Given the description of an element on the screen output the (x, y) to click on. 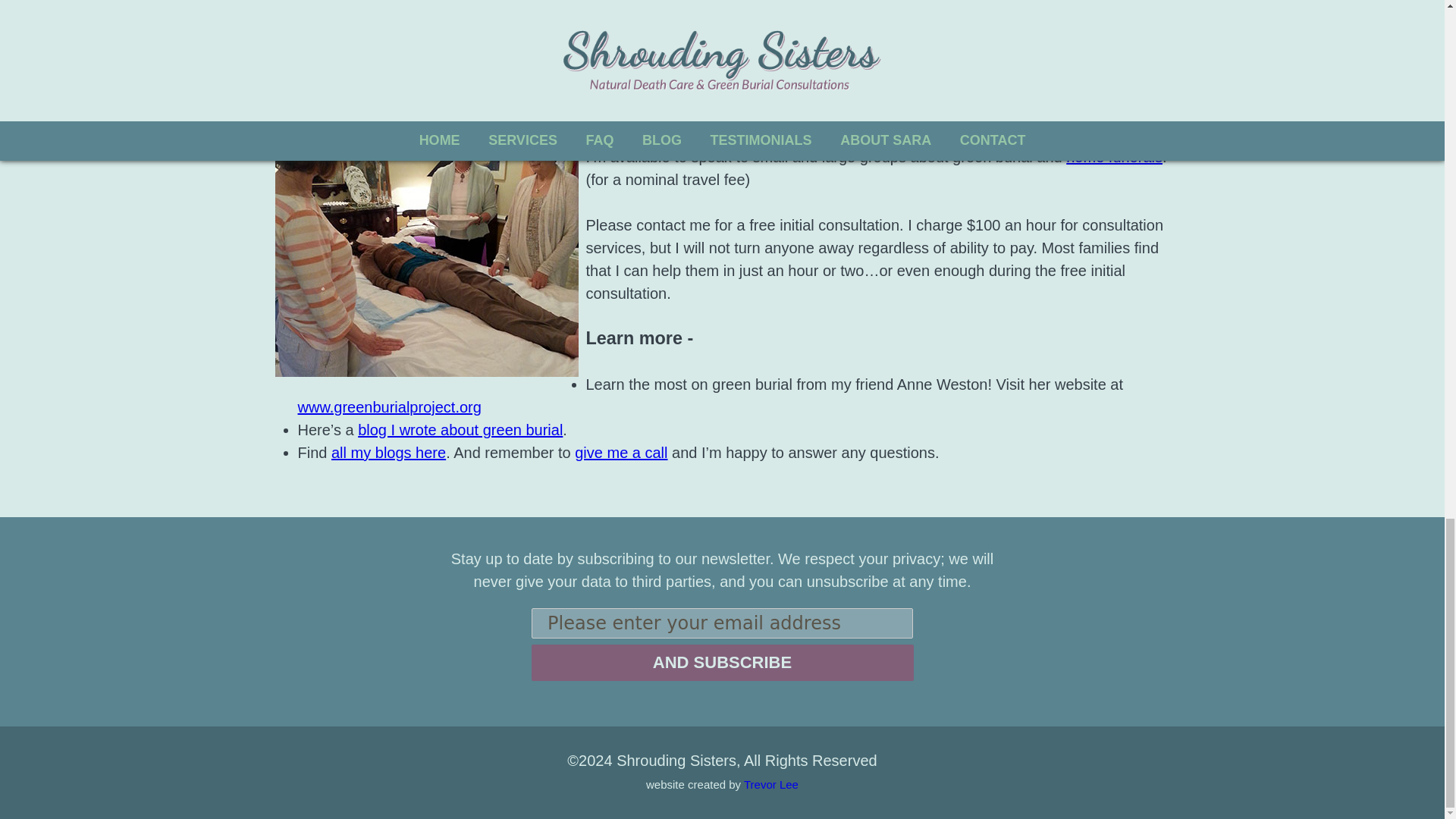
Trevor Lee (770, 784)
give me a call (620, 452)
blog I wrote about green burial (460, 429)
And Subscribe (721, 662)
all my blogs here (388, 452)
home funerals (1113, 156)
Please enter your email address (721, 623)
www.greenburialproject.org (388, 406)
And Subscribe (721, 662)
